Given the description of an element on the screen output the (x, y) to click on. 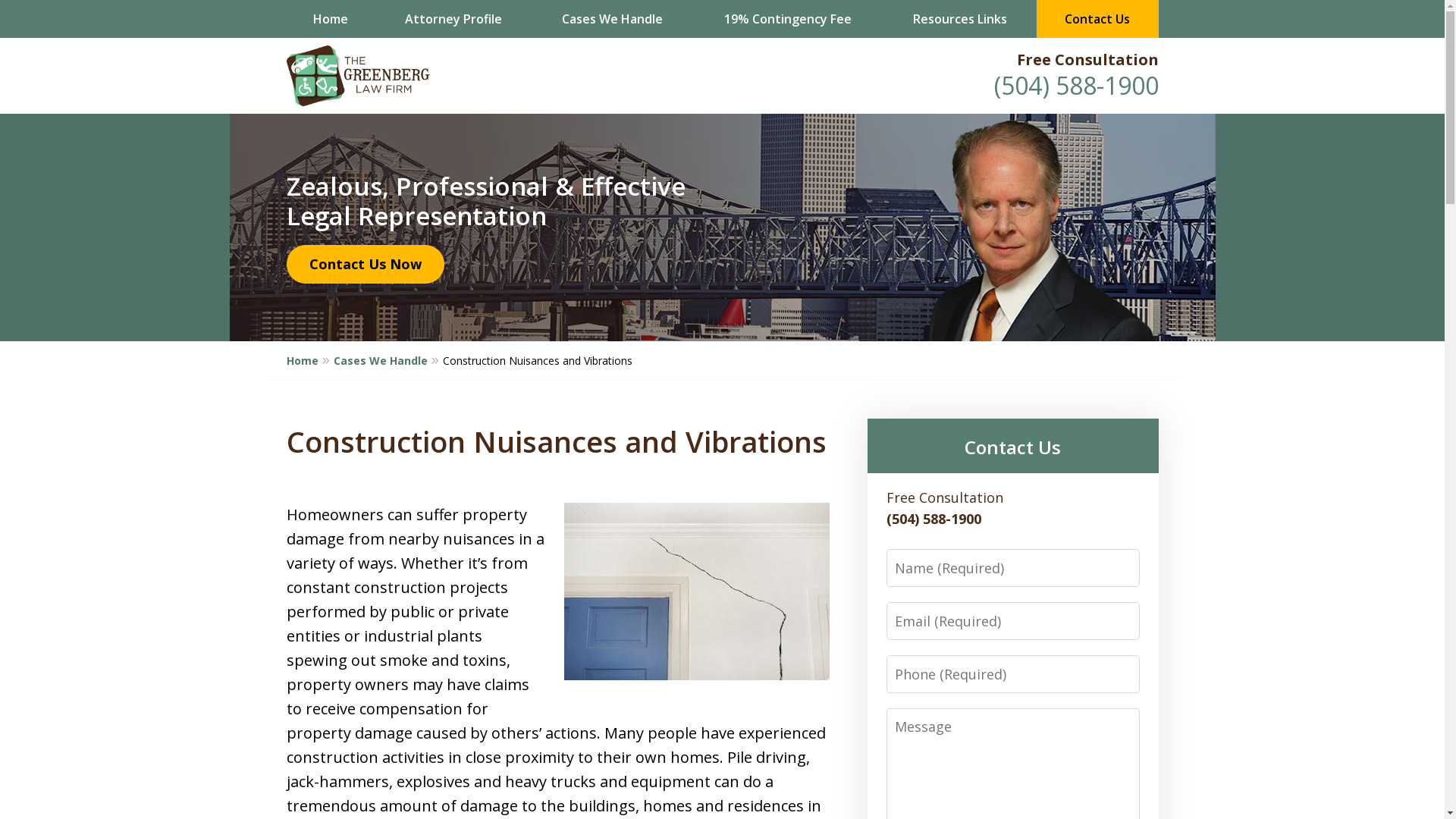
Home Element type: text (309, 359)
Resources Links Element type: text (958, 18)
Free Consultation Element type: text (1086, 59)
Cases We Handle Element type: text (611, 18)
19% Contingency Fee Element type: text (787, 18)
Home Element type: text (330, 18)
Attorney Profile Element type: text (452, 18)
Cases We Handle Element type: text (387, 359)
Contact Us Now Element type: text (365, 264)
Contact Us Element type: text (1097, 18)
(504) 588-1900 Element type: text (1075, 85)
